Given the description of an element on the screen output the (x, y) to click on. 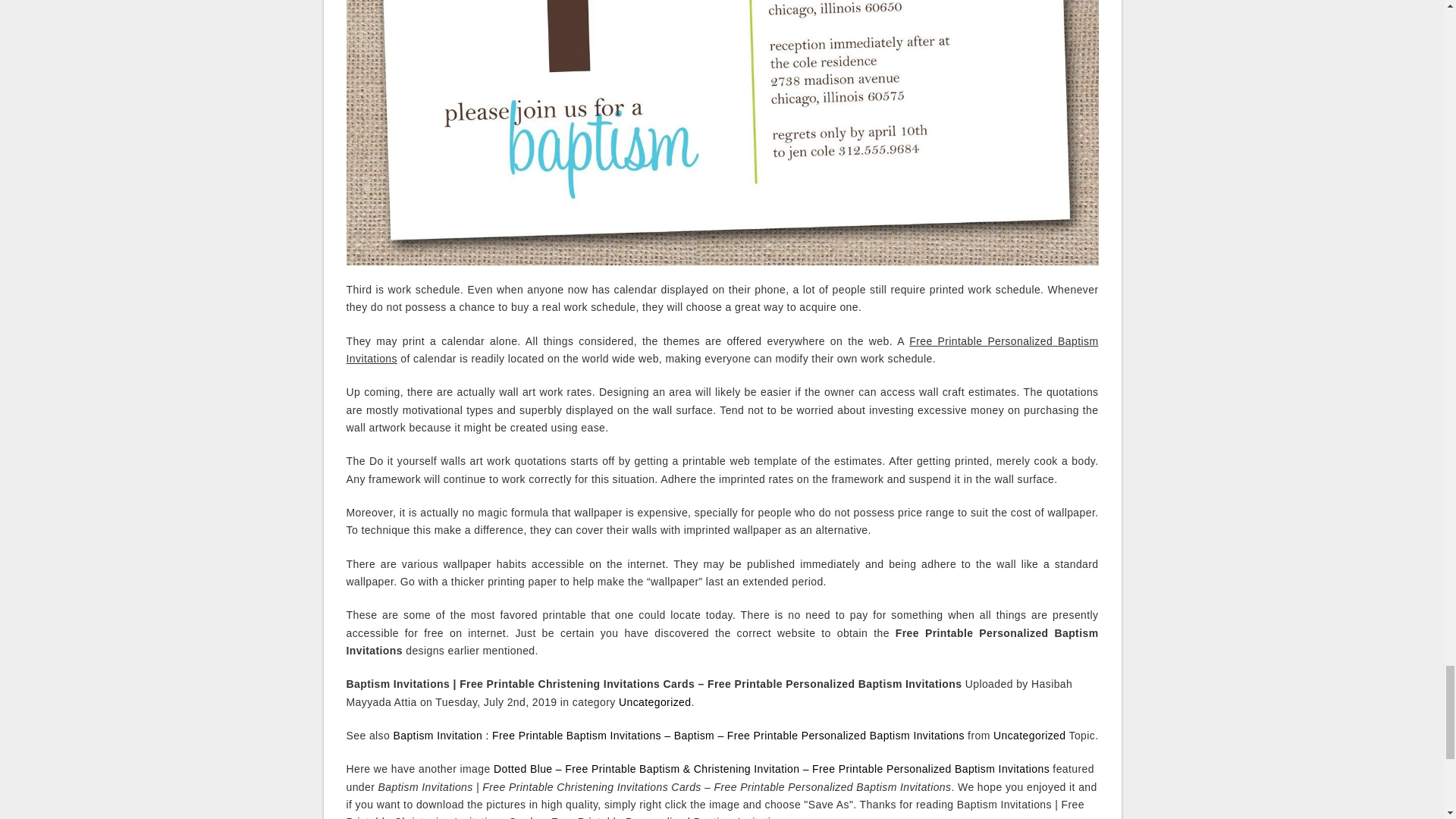
Uncategorized (654, 702)
Uncategorized (1028, 735)
